Given the description of an element on the screen output the (x, y) to click on. 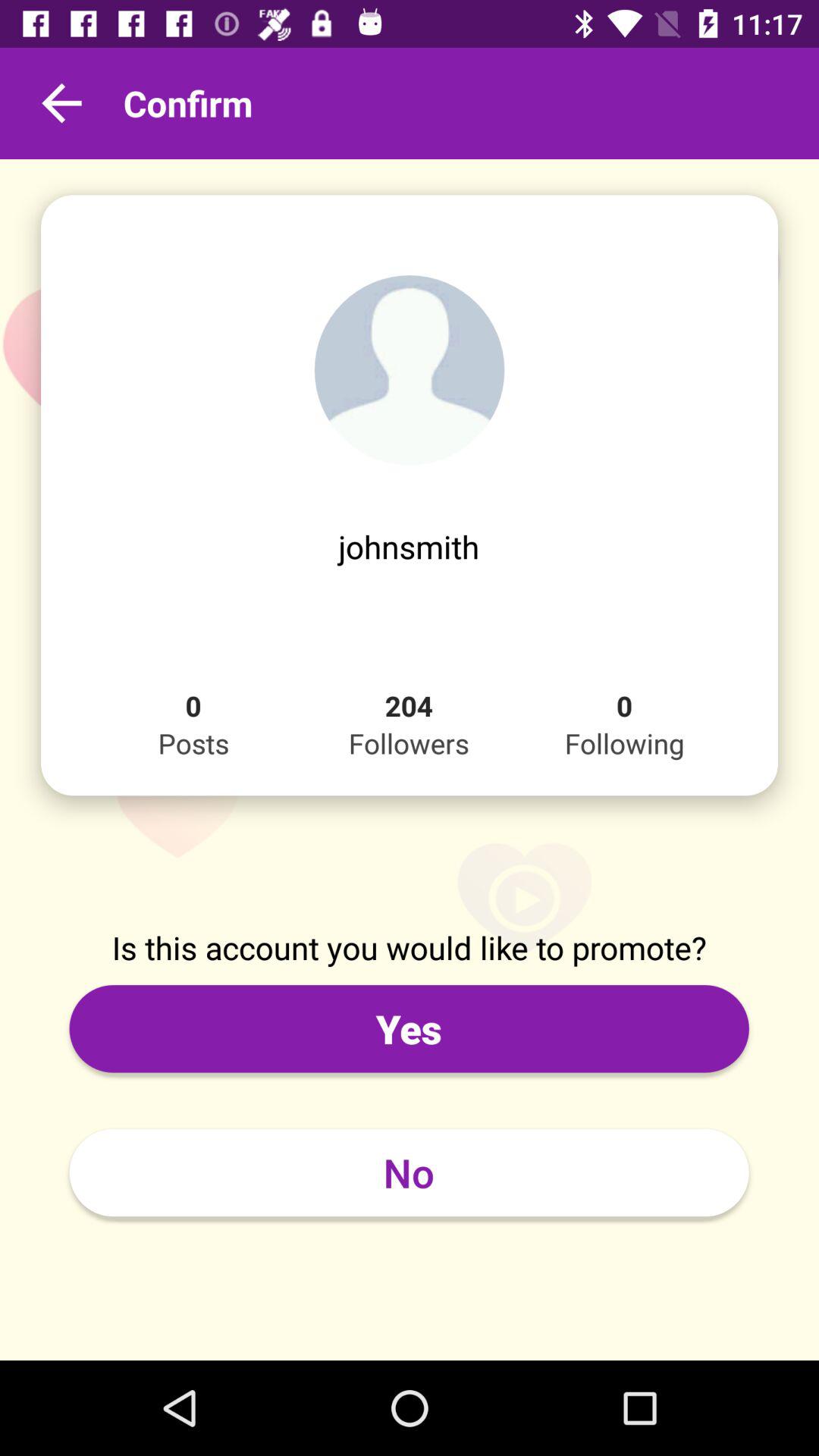
select the item below the yes (409, 1172)
